Given the description of an element on the screen output the (x, y) to click on. 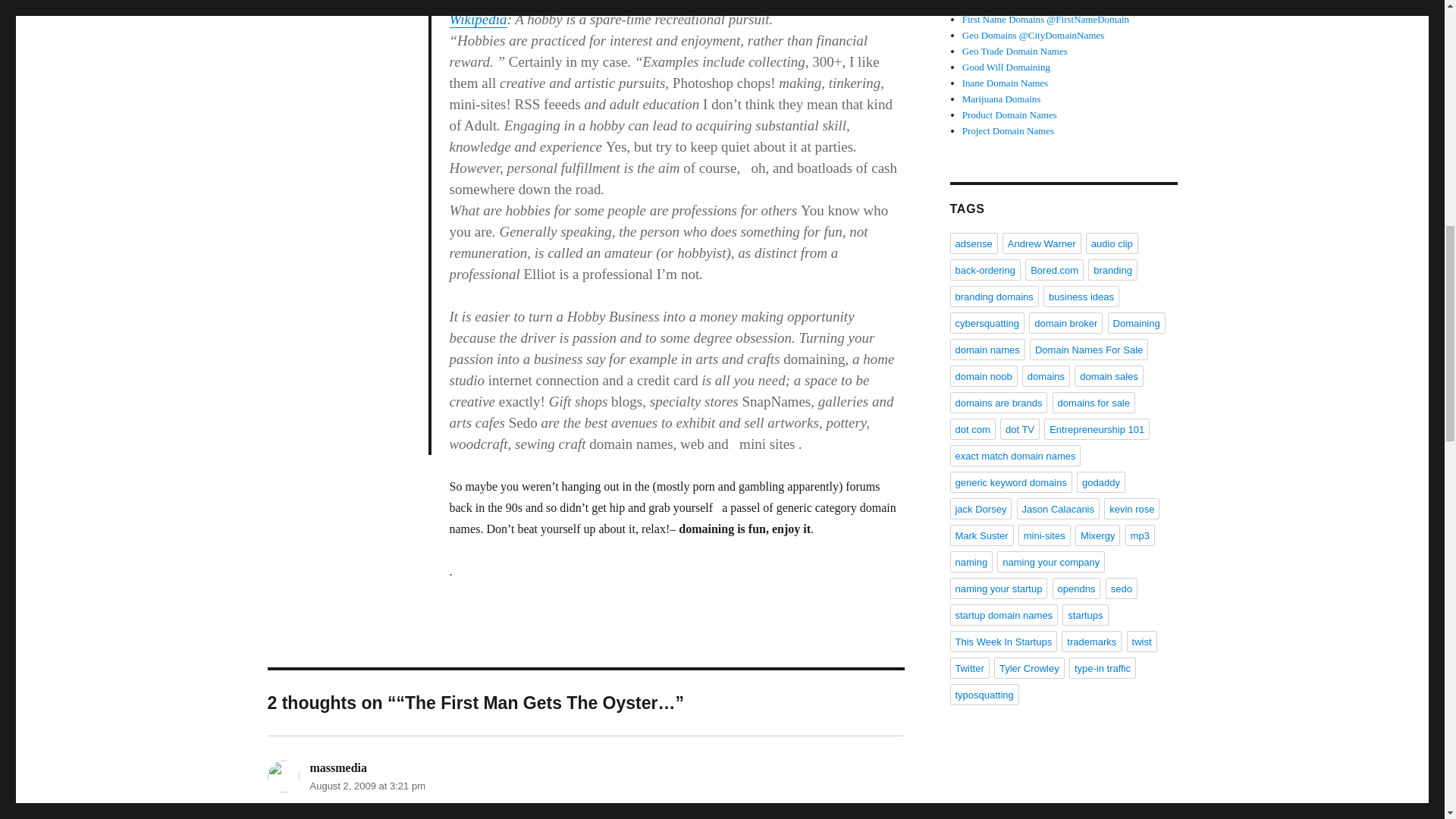
Hobby on Wikipedia (477, 19)
Good Will Domaining (1005, 66)
Project Domain Names (1008, 130)
Inane Domain Names (1005, 82)
Geo Trade Domain Names (1014, 50)
Marijuana Domains (1001, 98)
Wikipedia (477, 19)
Domains Are Brands (1003, 4)
Product Domain Names (1009, 114)
August 2, 2009 at 3:21 pm (366, 785)
